Given the description of an element on the screen output the (x, y) to click on. 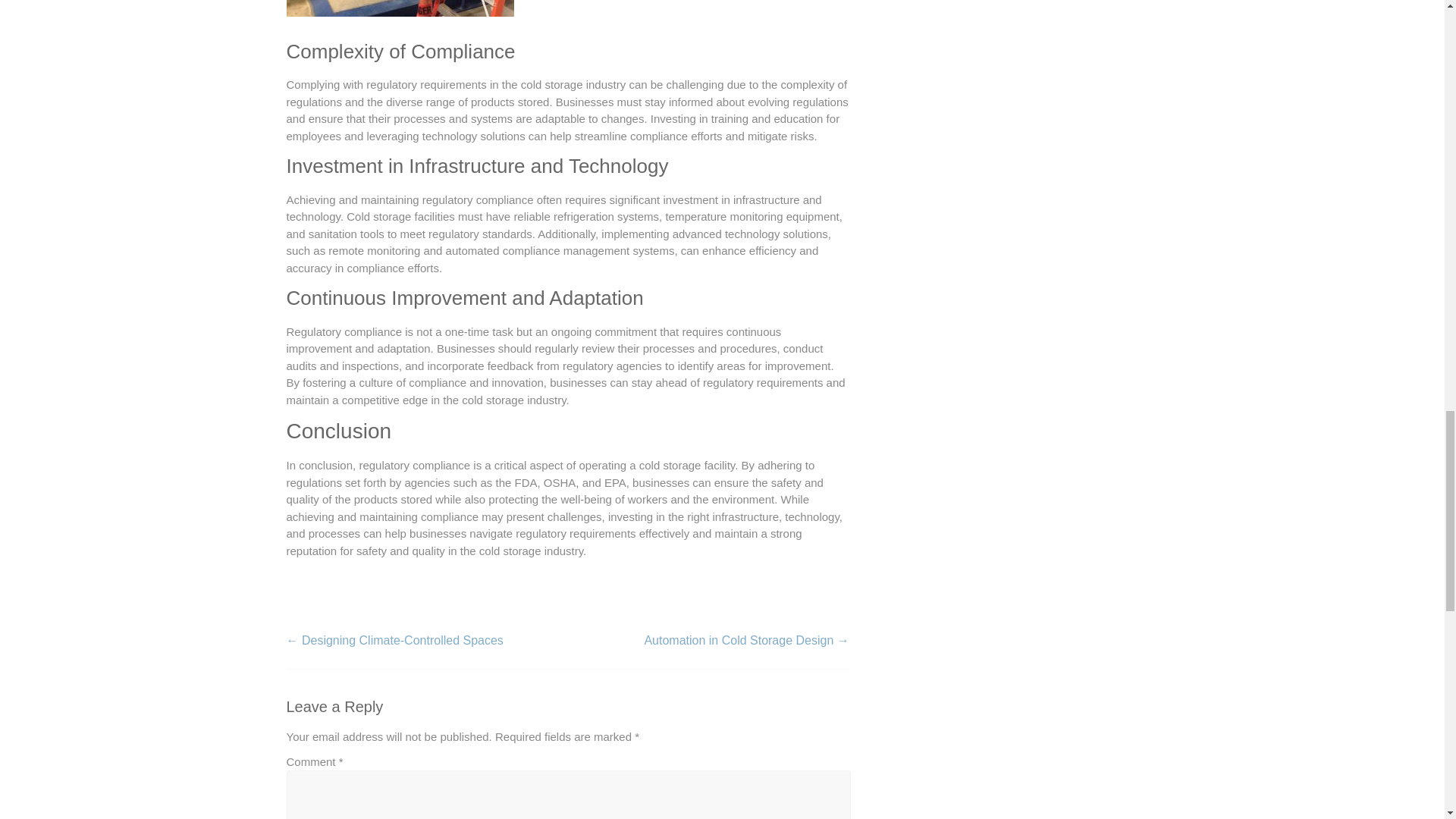
Compliance in Cold Storage (399, 8)
